Given the description of an element on the screen output the (x, y) to click on. 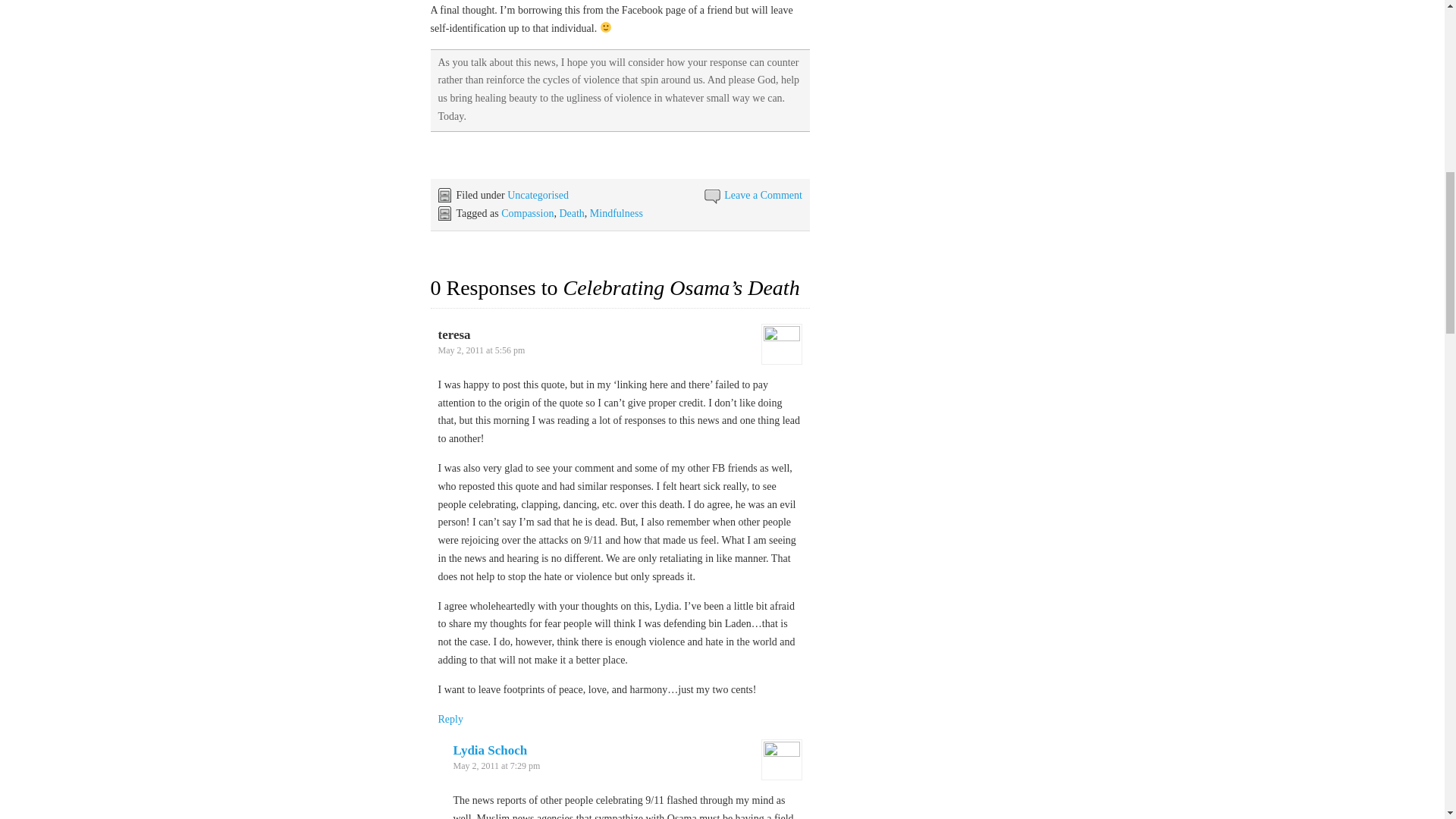
Death (571, 213)
May 2, 2011 at 5:56 pm (481, 349)
Uncategorised (537, 194)
Lydia Schoch (489, 749)
Reply (450, 717)
Mindfulness (616, 213)
Compassion (526, 213)
May 2, 2011 at 7:29 pm (496, 765)
Leave a Comment (762, 194)
